Given the description of an element on the screen output the (x, y) to click on. 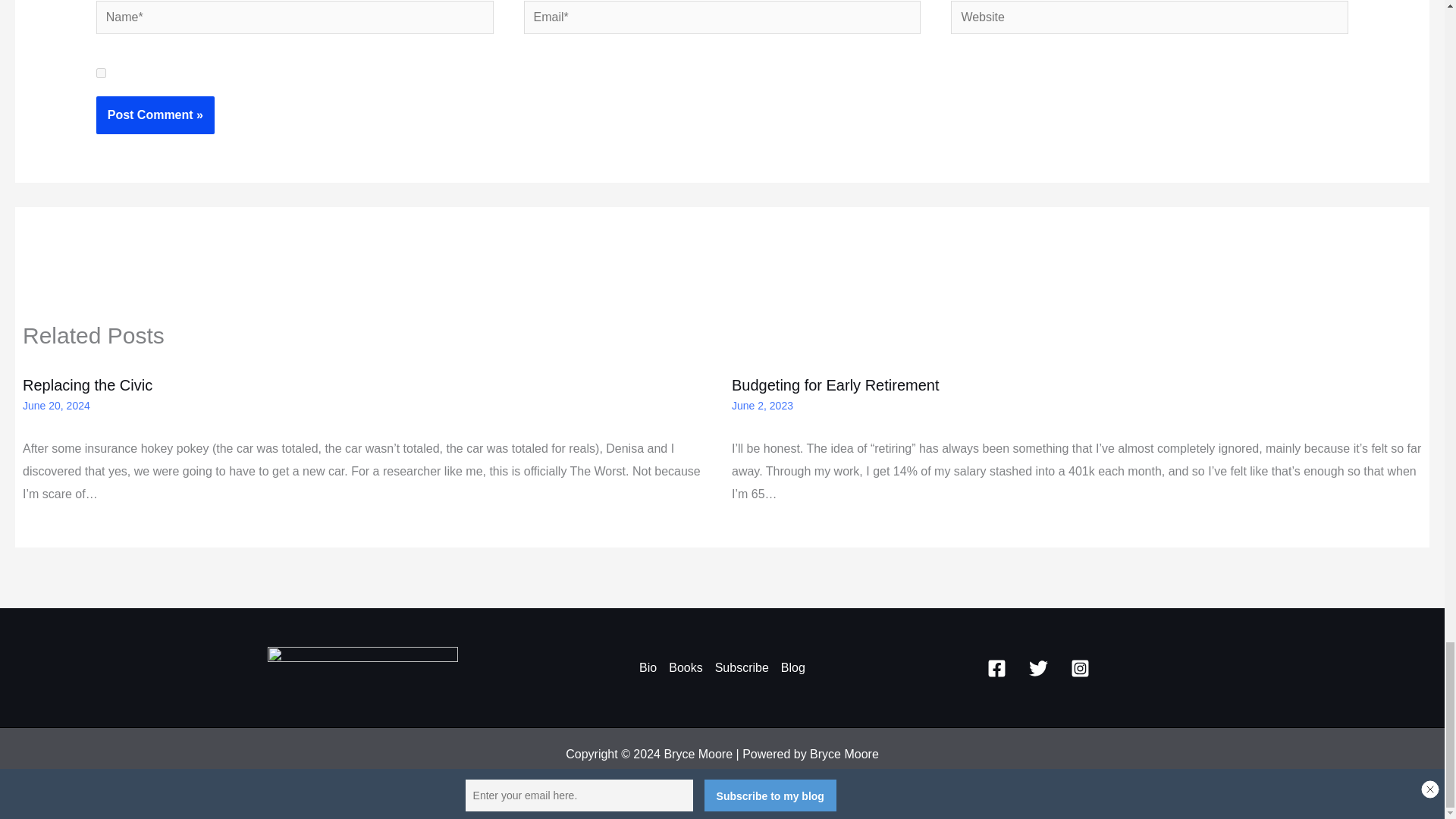
Replacing the Civic (87, 384)
1 (101, 72)
Books (684, 667)
Budgeting for Early Retirement (835, 384)
Bio (650, 667)
